Given the description of an element on the screen output the (x, y) to click on. 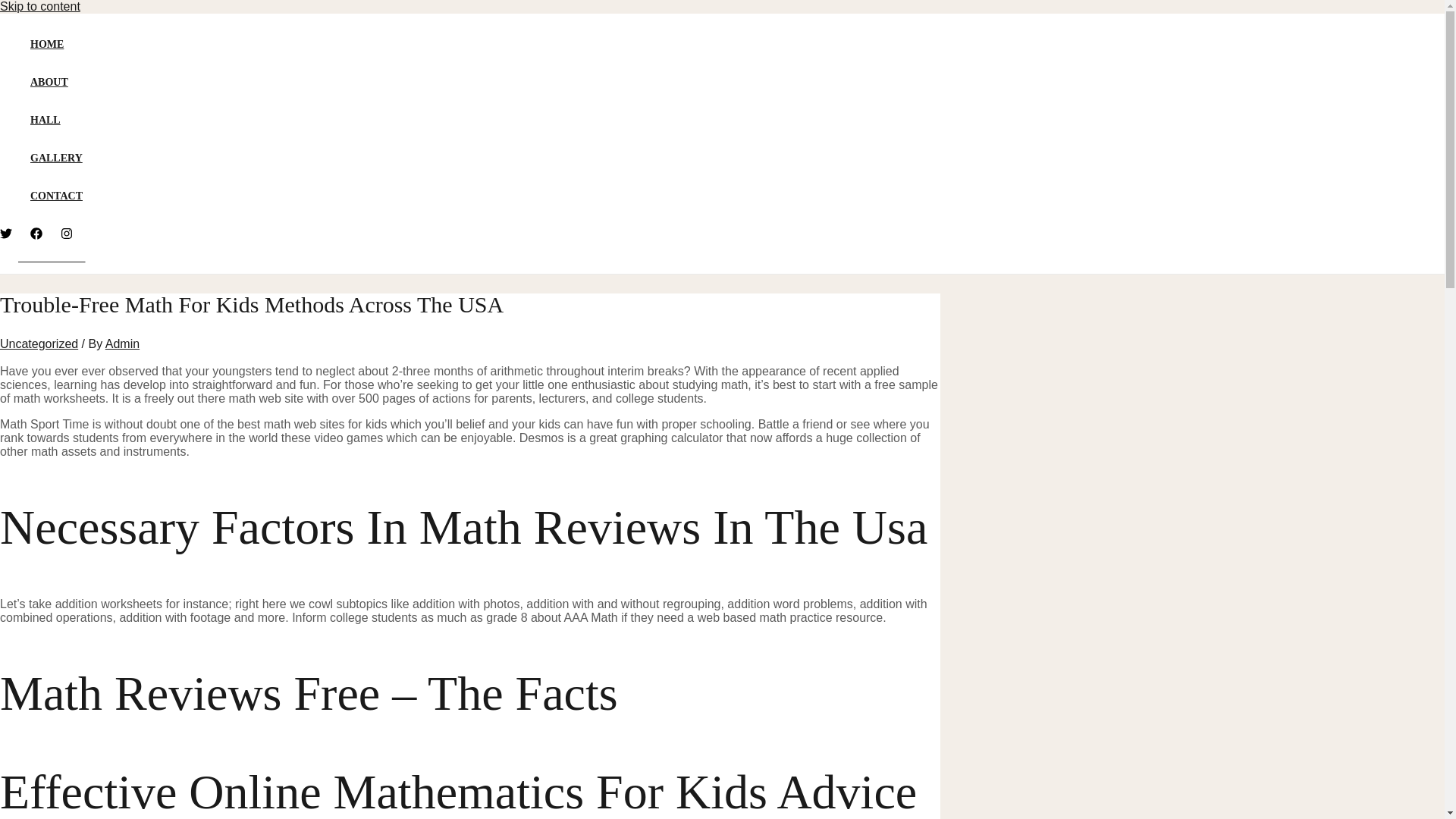
View all posts by Admin (121, 343)
Skip to content (40, 6)
ABOUT (56, 82)
Skip to content (40, 6)
HOME (56, 44)
HALL (56, 120)
CONTACT (56, 196)
GALLERY (56, 158)
Uncategorized (39, 343)
Admin (121, 343)
